Given the description of an element on the screen output the (x, y) to click on. 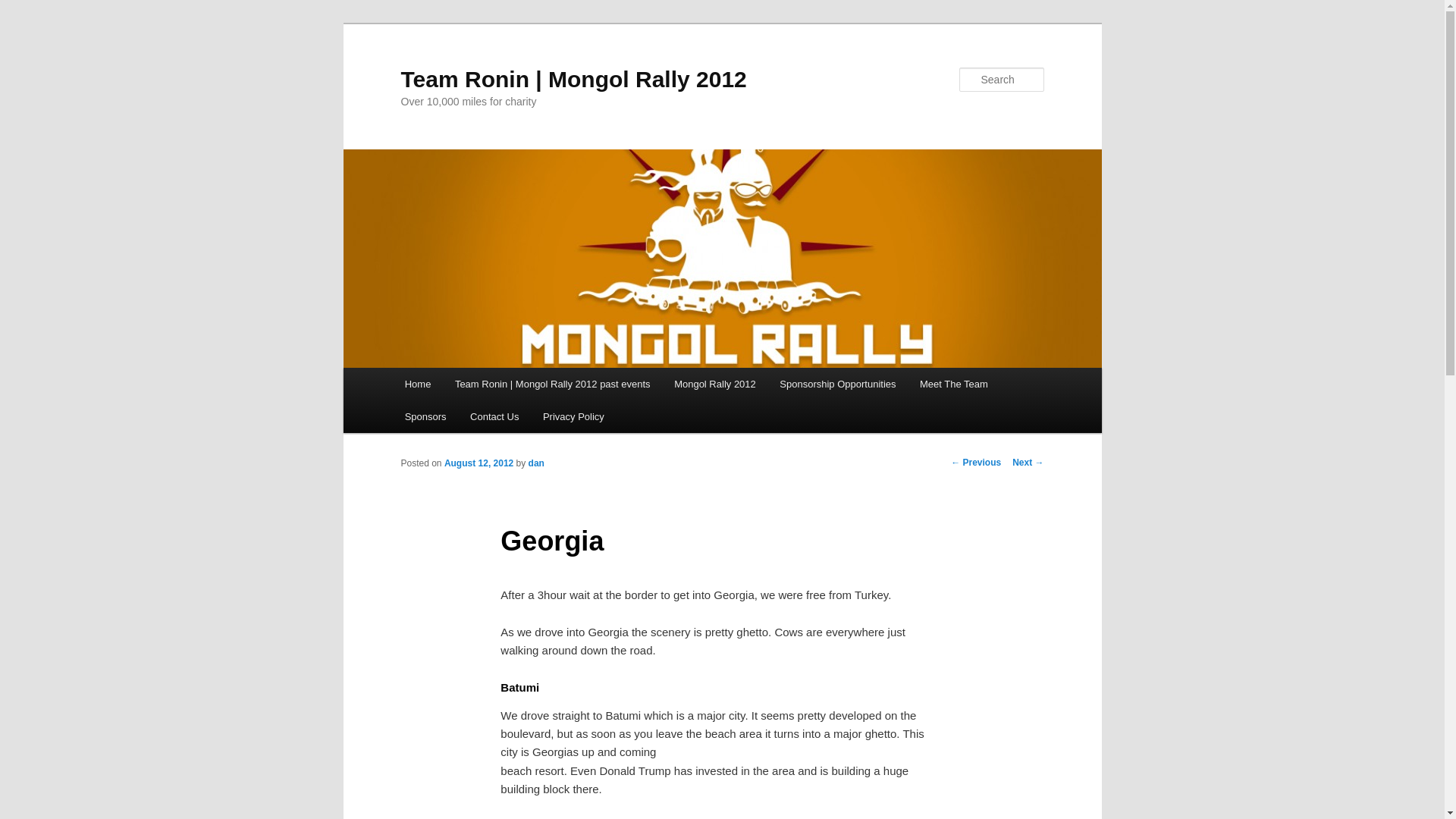
Meet The Team (952, 383)
2:51 am (478, 462)
Search (24, 8)
Sponsors (425, 416)
Home (417, 383)
Privacy Policy (573, 416)
Mongol Rally 2012 (714, 383)
dan (536, 462)
August 12, 2012 (478, 462)
Contact Us (494, 416)
